Given the description of an element on the screen output the (x, y) to click on. 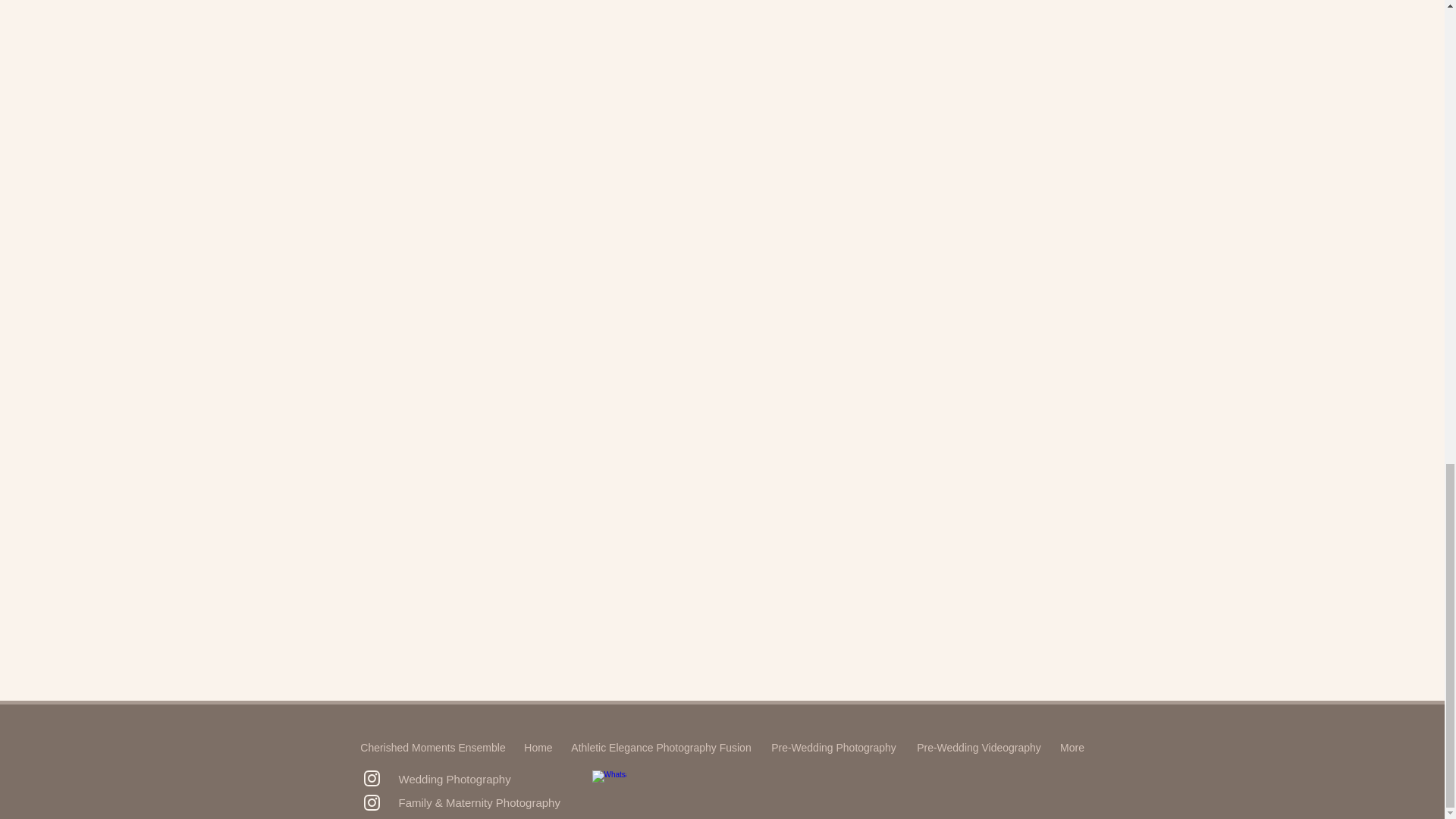
Pre-Wedding Videography (979, 747)
Home (538, 747)
Athletic Elegance Photography Fusion (660, 747)
Cherished Moments Ensemble (432, 747)
Wedding Photography (454, 779)
Pre-Wedding Photography (834, 747)
